Given the description of an element on the screen output the (x, y) to click on. 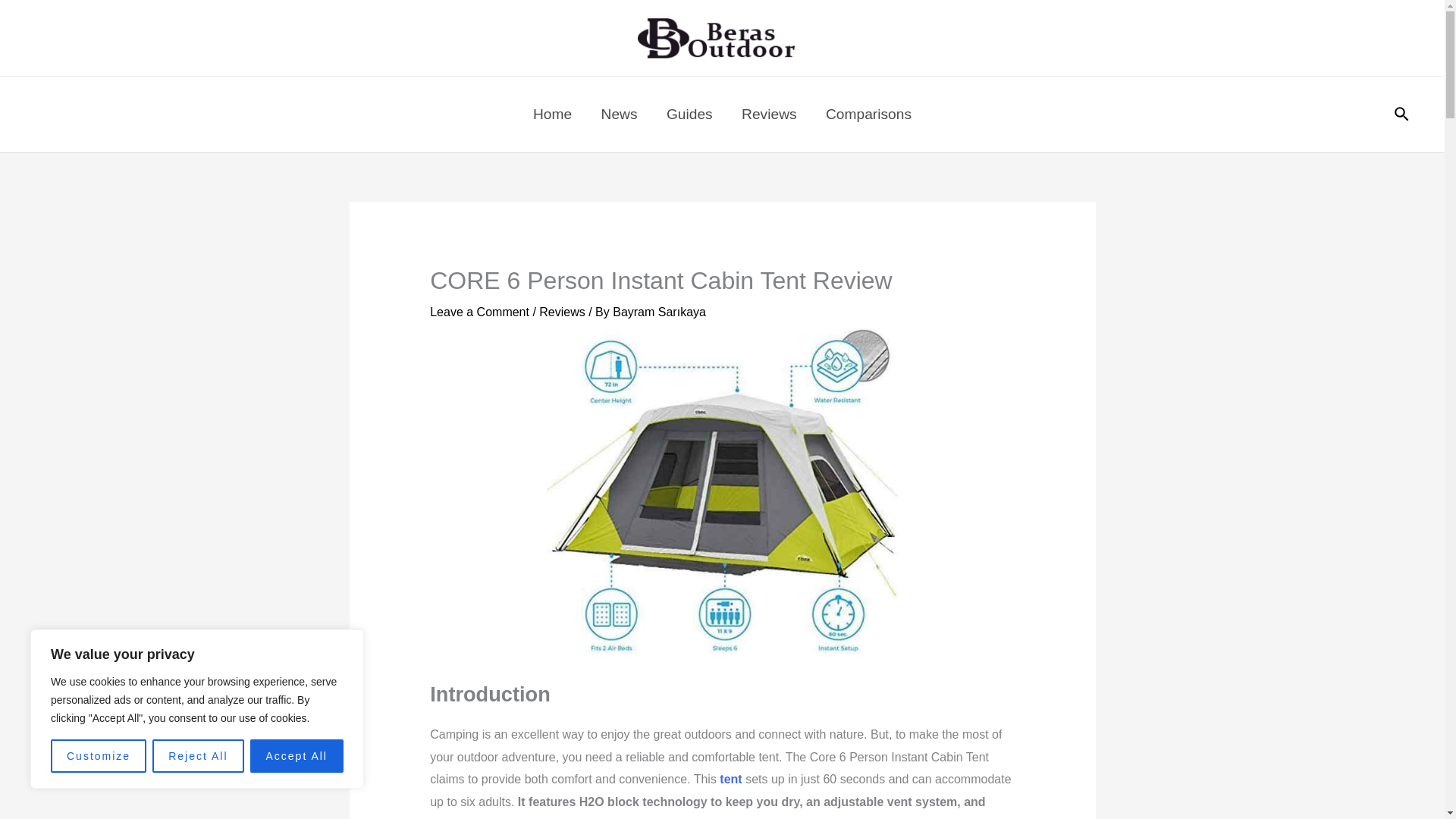
Reviews (561, 311)
Home (552, 114)
Guides (689, 114)
Leave a Comment (479, 311)
tent (730, 779)
Comparisons (868, 114)
Reviews (768, 114)
Accept All (296, 756)
Reject All (197, 756)
Customize (98, 756)
